Given the description of an element on the screen output the (x, y) to click on. 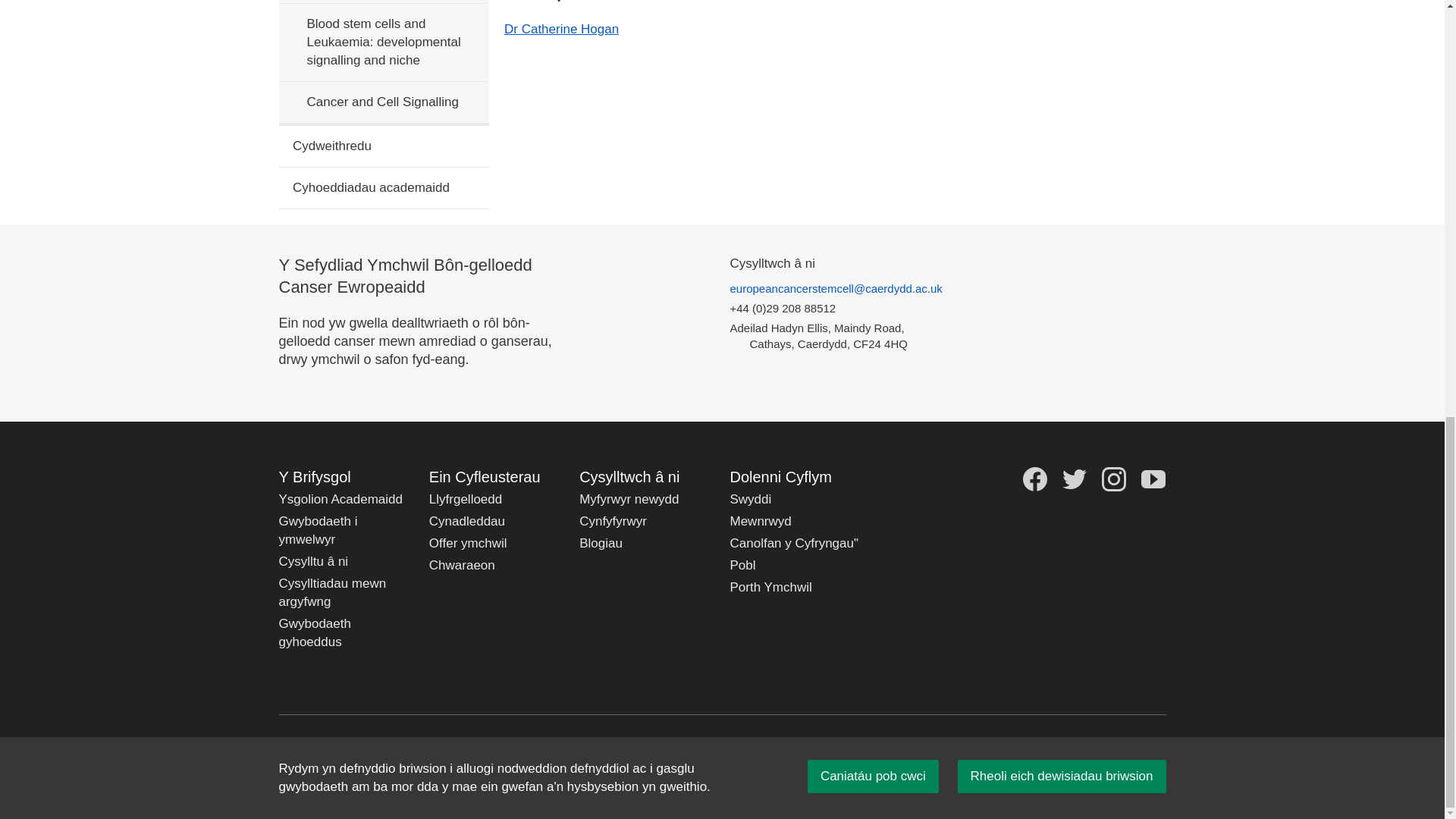
facebook (1034, 478)
Youtube (1153, 478)
twitter no background icon (1074, 478)
instagram (1113, 478)
